Given the description of an element on the screen output the (x, y) to click on. 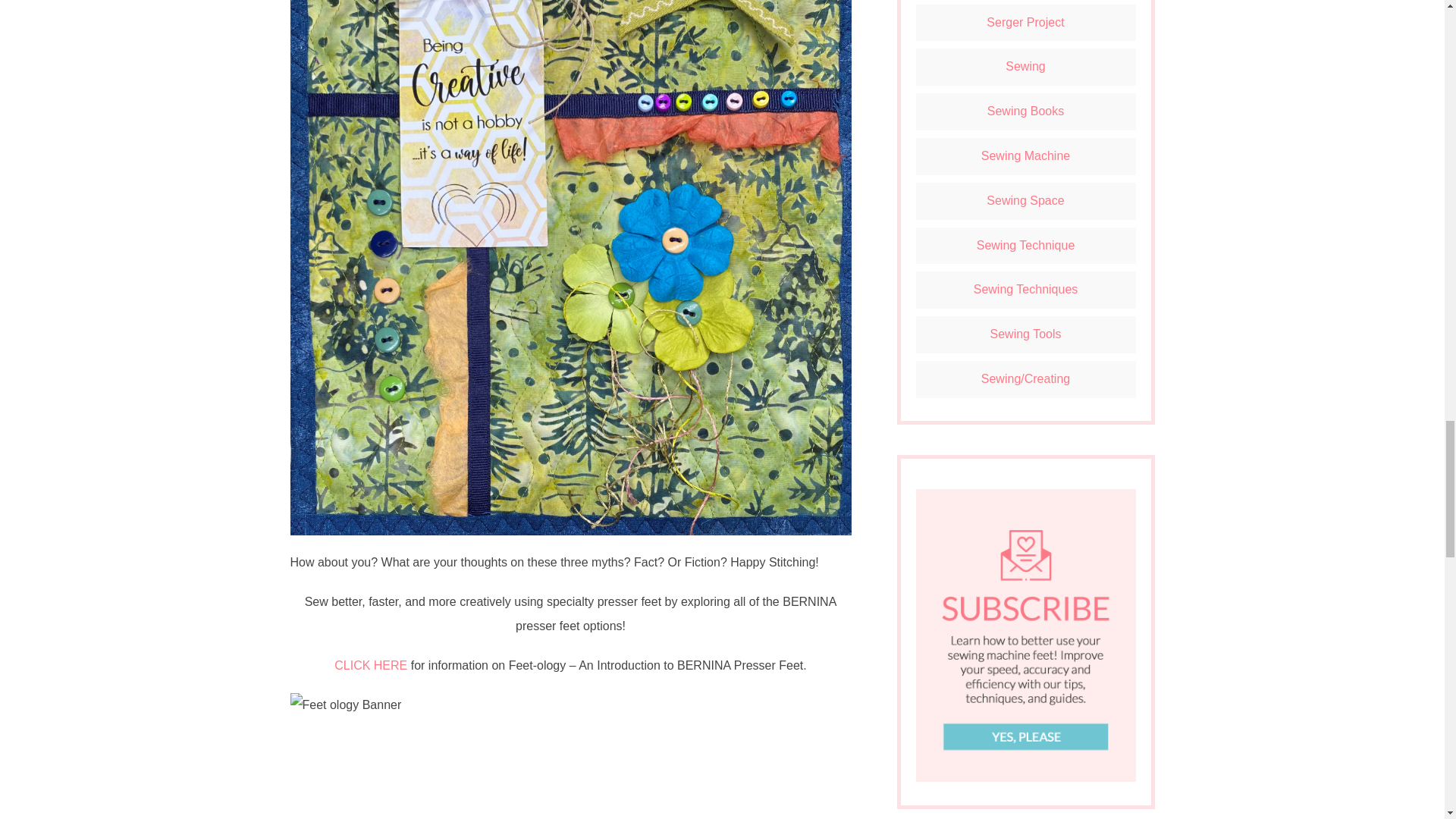
CLICK HERE (370, 665)
Feet ology Banner (569, 747)
